Given the description of an element on the screen output the (x, y) to click on. 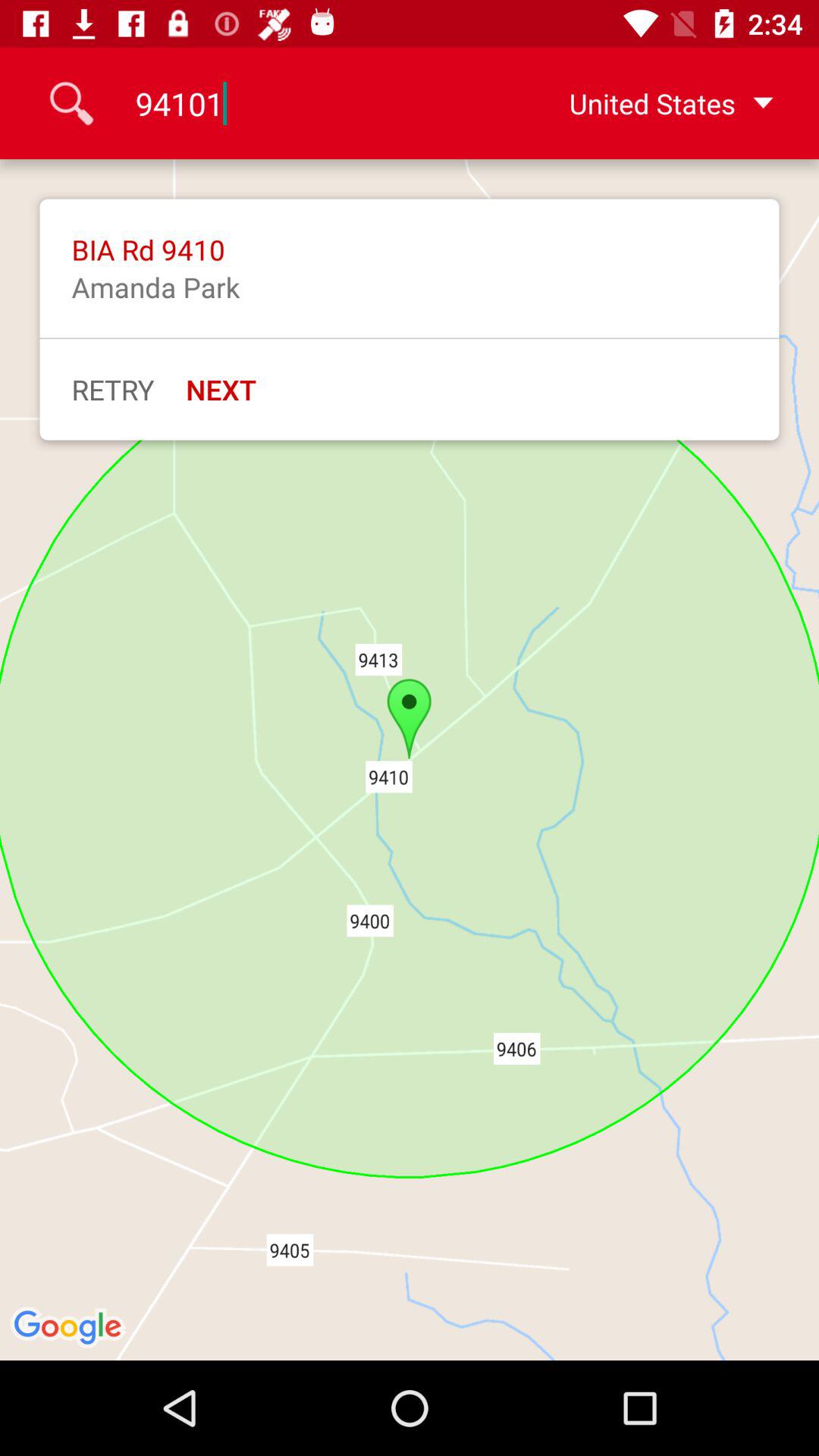
press icon to the left of next (112, 389)
